Given the description of an element on the screen output the (x, y) to click on. 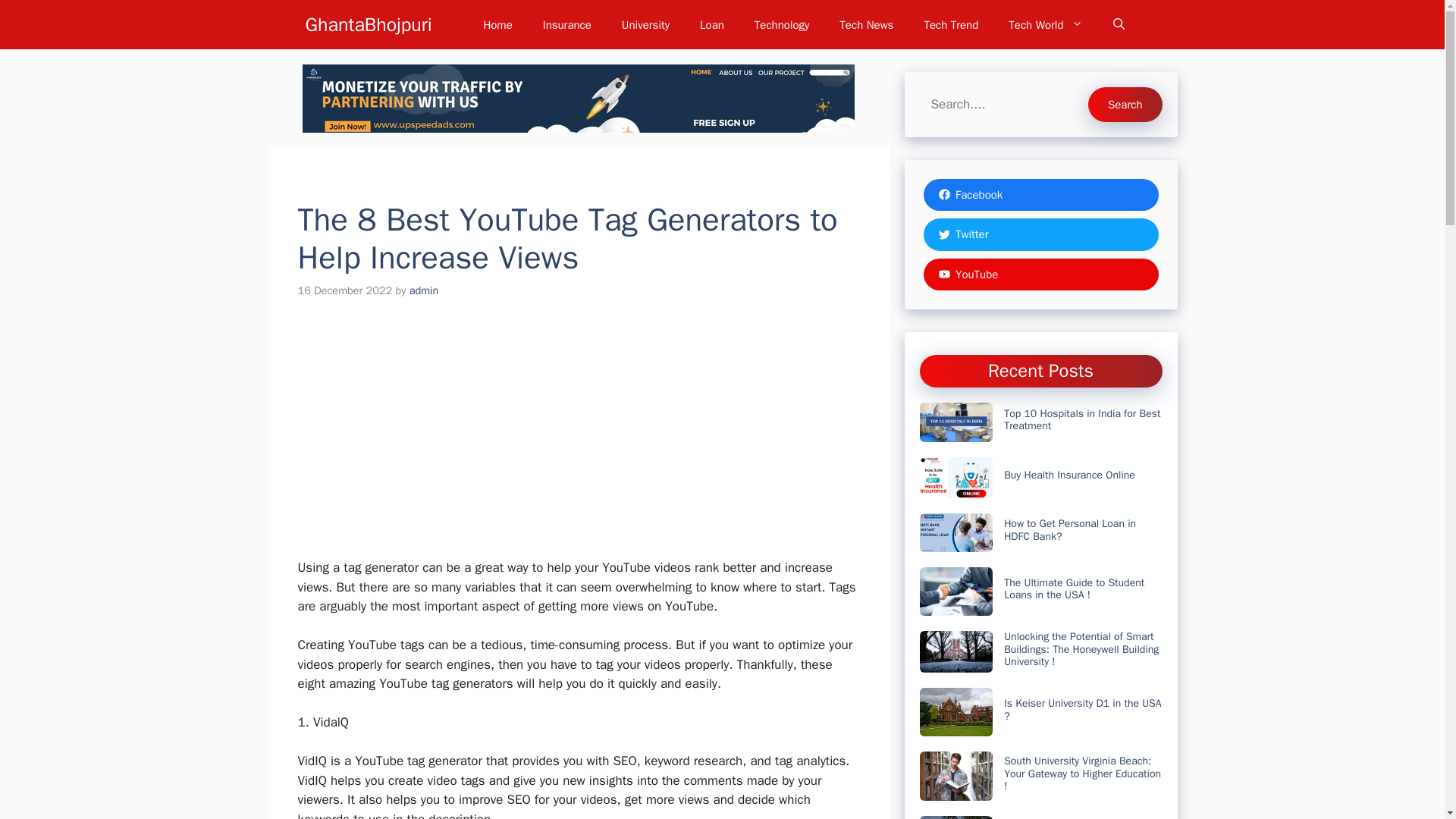
Tech News (866, 23)
YouTube (1040, 273)
Home (497, 23)
Top 10 Hospitals in India for Best Treatment (1082, 420)
Facebook (1040, 195)
Click Here To Join Upspeed Ads (577, 98)
GhantaBhojpuri (367, 24)
Search (1124, 104)
How to Get Personal Loan in HDFC Bank? (1069, 529)
Technology (782, 23)
The Ultimate Guide to Student Loans in the USA ! (1074, 588)
Twitter (1040, 234)
Loan (711, 23)
Insurance (567, 23)
